Given the description of an element on the screen output the (x, y) to click on. 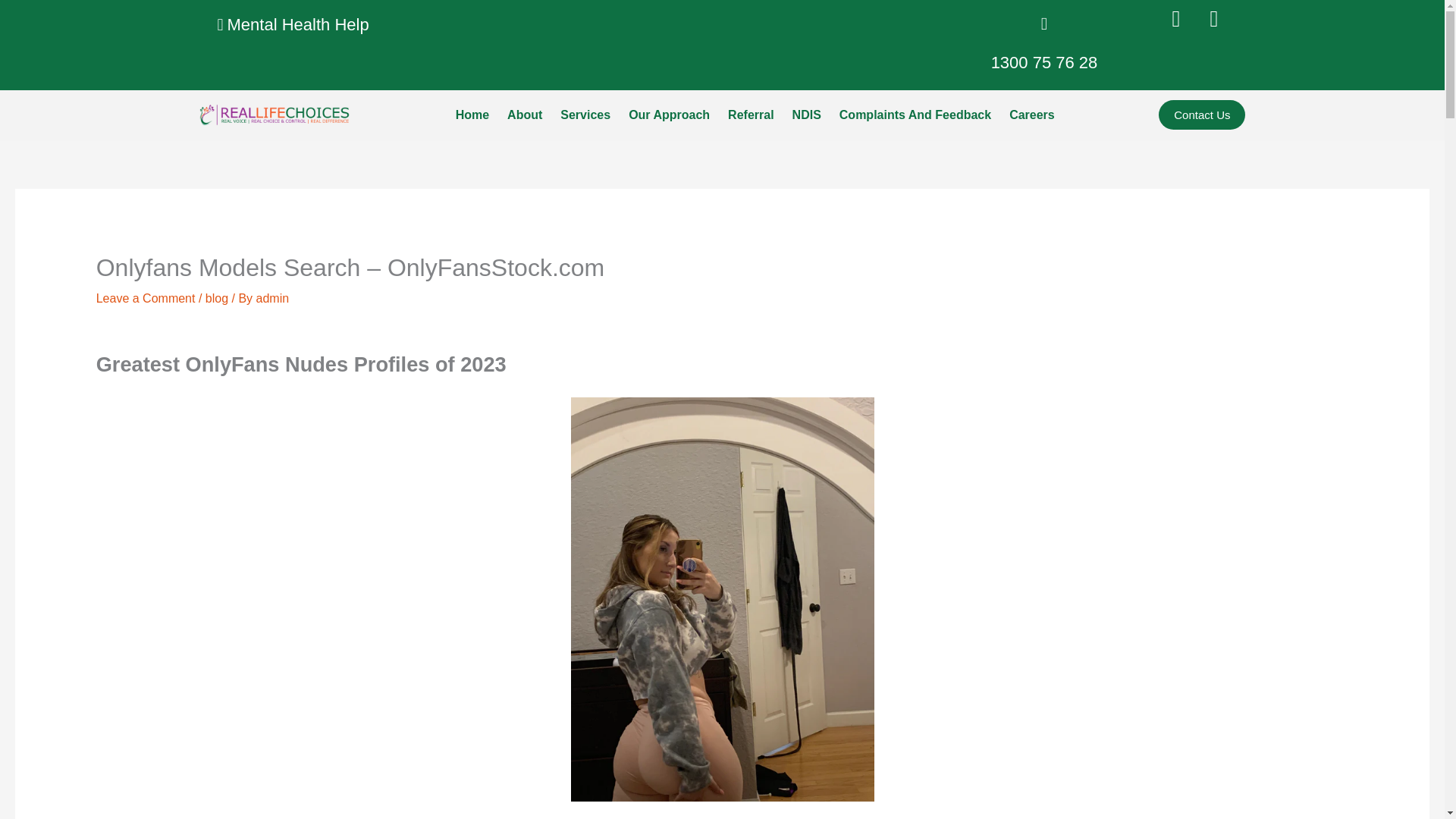
Home (471, 114)
1300 75 76 28 (1044, 62)
Our Approach (669, 114)
Complaints And Feedback (914, 114)
Services (585, 114)
Mental Health Help (292, 24)
View all posts by admin (272, 297)
NDIS (806, 114)
Careers (1032, 114)
Referral (751, 114)
About (524, 114)
